Given the description of an element on the screen output the (x, y) to click on. 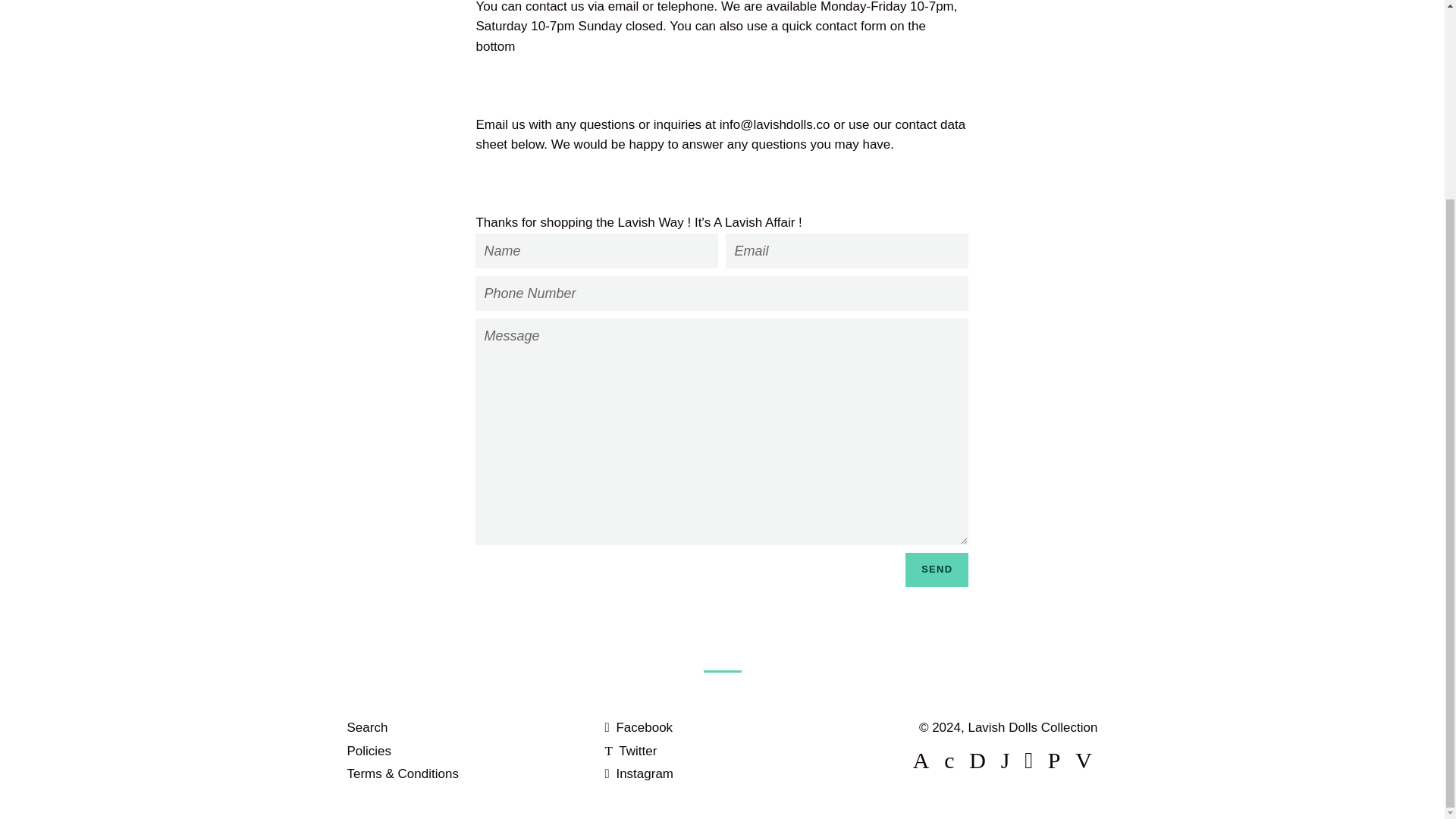
Send (936, 569)
Lavish Dolls Collection on Twitter (630, 750)
Lavish Dolls Collection (1032, 727)
Instagram (638, 773)
Lavish Dolls Collection on Facebook (638, 727)
Facebook (638, 727)
Policies (369, 750)
Send (936, 569)
Search (367, 727)
Twitter (630, 750)
Lavish Dolls Collection on Instagram (638, 773)
